Given the description of an element on the screen output the (x, y) to click on. 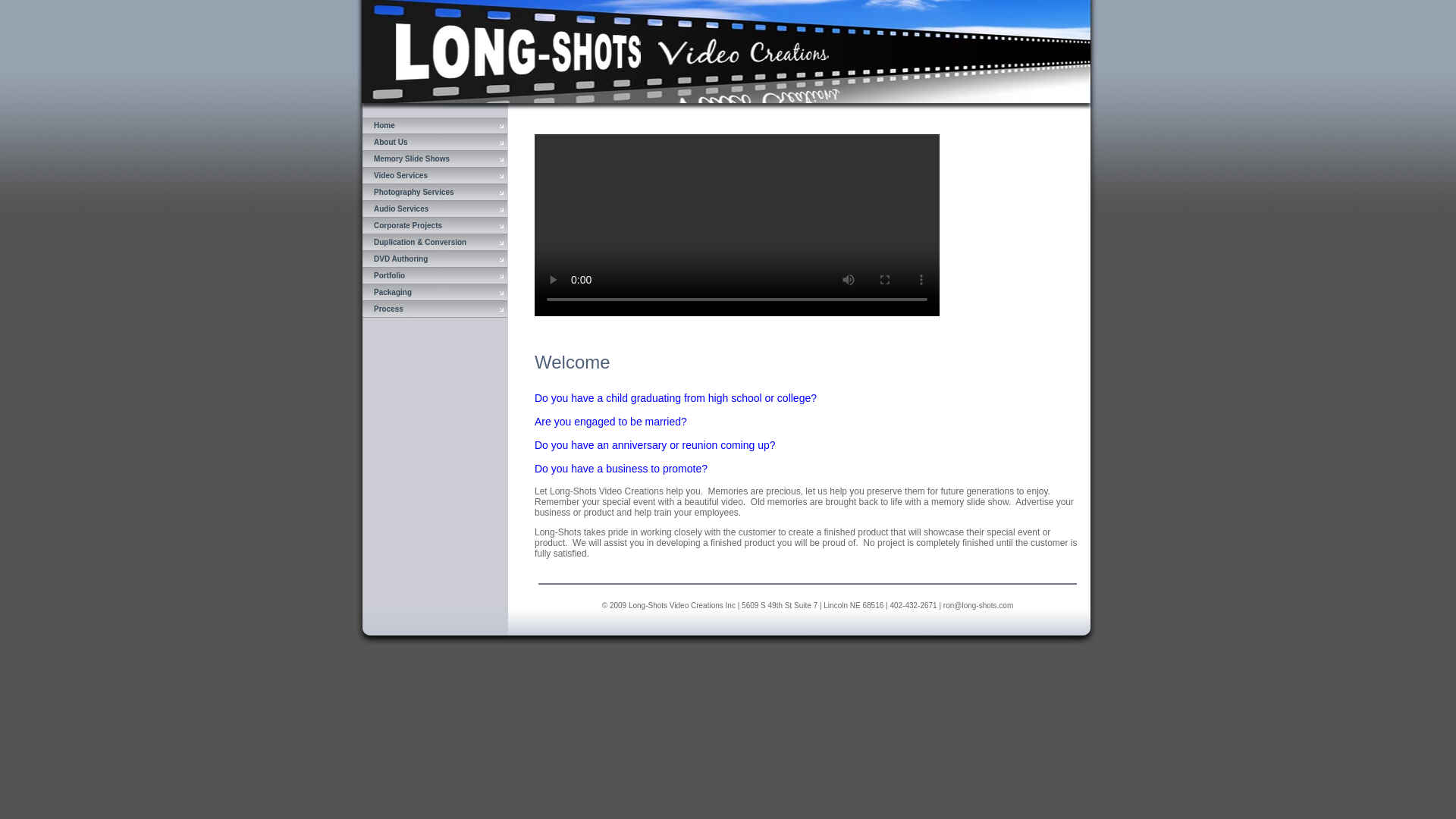
Process (434, 309)
Corporate Projects (434, 225)
Packaging (434, 292)
Photography Services (434, 192)
About Us (434, 142)
Portfolio (434, 275)
Audio Services (434, 208)
Memory Slide Shows (434, 158)
Home (434, 125)
DVD Authoring (434, 258)
